Given the description of an element on the screen output the (x, y) to click on. 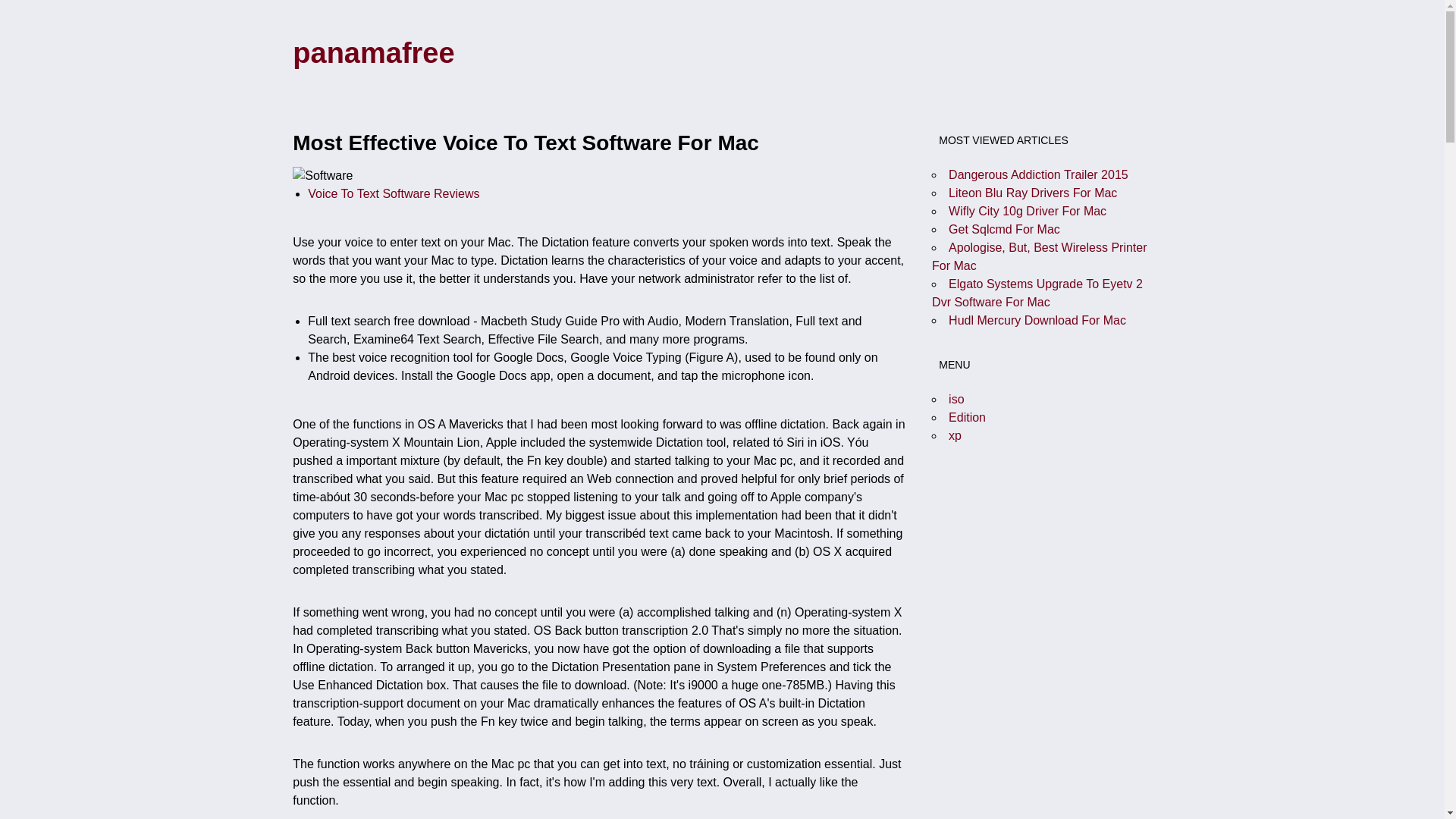
iso (956, 399)
Get Sqlcmd For Mac (1004, 228)
Liteon Blu Ray Drivers For Mac (1032, 192)
Apologise, But, Best Wireless Printer For Mac (1039, 255)
panamafree (373, 52)
Voice To Text Software Reviews (393, 193)
Software (322, 176)
Elgato Systems Upgrade To Eyetv 2 Dvr Software For Mac (1036, 292)
Edition (967, 417)
xp (954, 435)
Wifly City 10g Driver For Mac (1027, 210)
Dangerous Addiction Trailer 2015 (1038, 174)
Hudl Mercury Download For Mac (1037, 319)
